Given the description of an element on the screen output the (x, y) to click on. 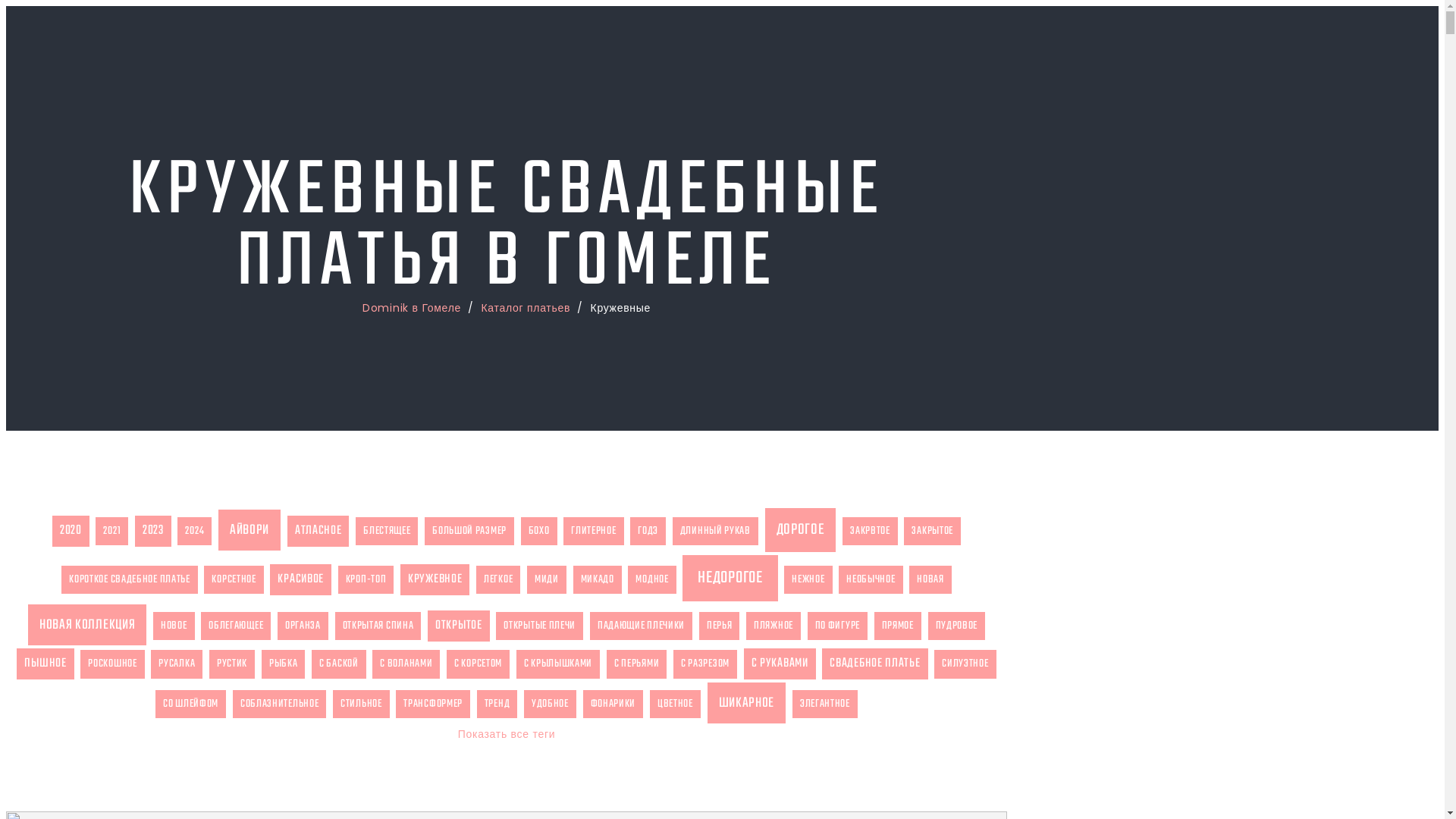
2023 Element type: text (152, 530)
2020 Element type: text (70, 530)
2021 Element type: text (111, 531)
2024 Element type: text (194, 531)
